Given the description of an element on the screen output the (x, y) to click on. 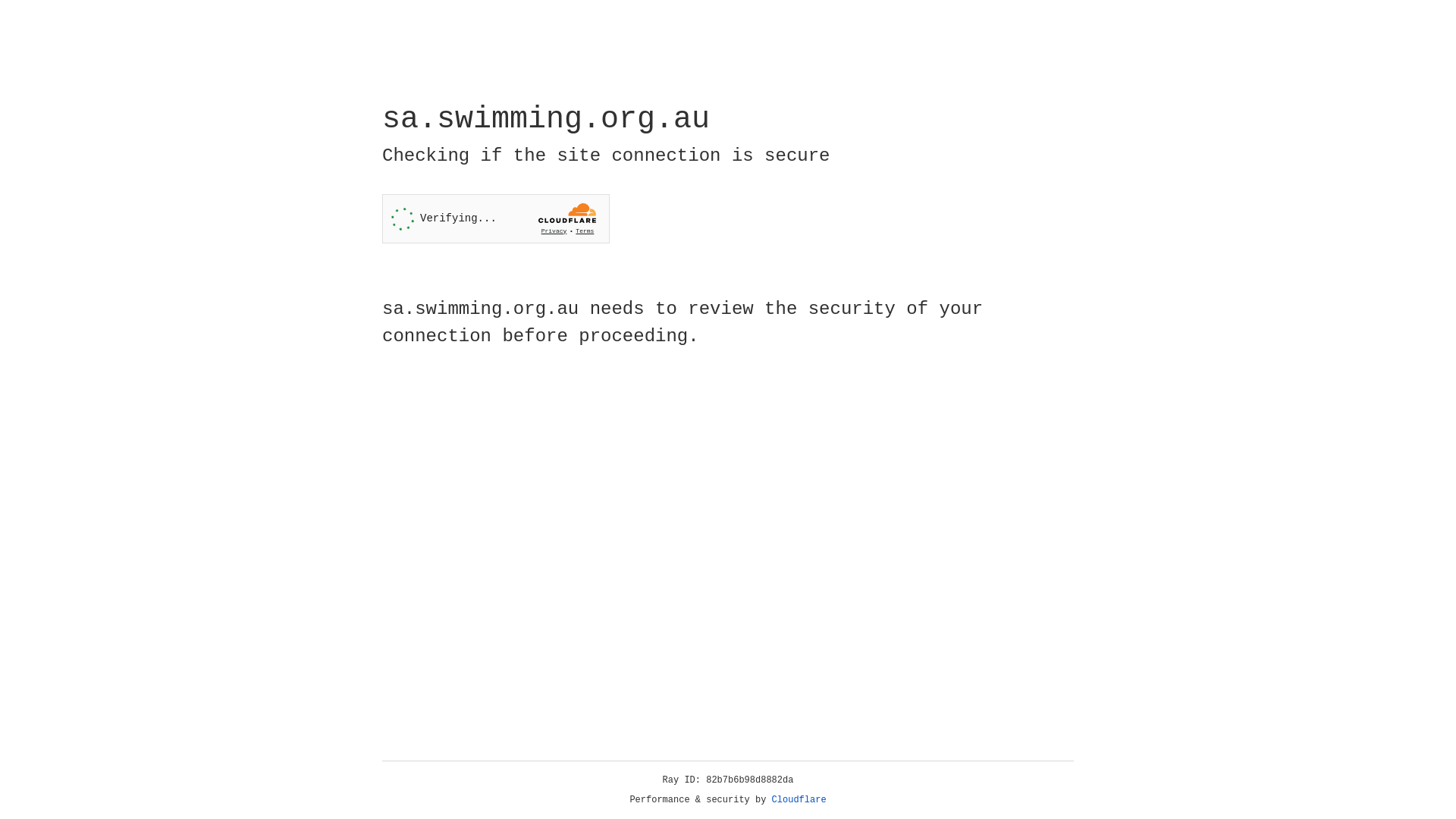
Cloudflare Element type: text (798, 799)
Widget containing a Cloudflare security challenge Element type: hover (495, 218)
